Given the description of an element on the screen output the (x, y) to click on. 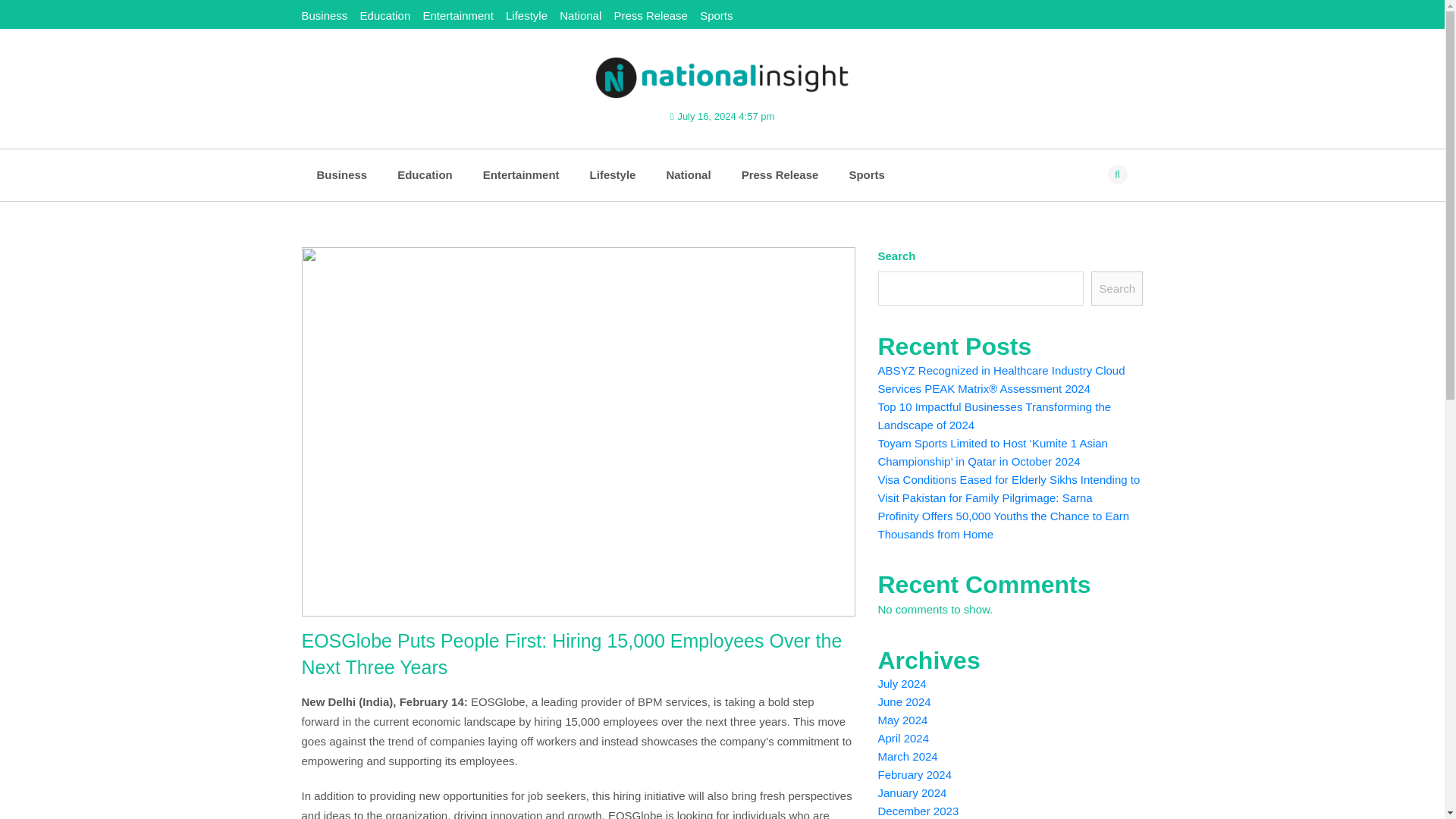
National (687, 174)
National (580, 15)
Press Release (780, 174)
Entertainment (457, 15)
National (687, 174)
Press Release (649, 15)
Education (424, 174)
Sports (865, 174)
Business (341, 174)
Lifestyle (612, 174)
Business (324, 15)
Entertainment (521, 174)
Education (424, 174)
Business (341, 174)
Sports (716, 15)
